Given the description of an element on the screen output the (x, y) to click on. 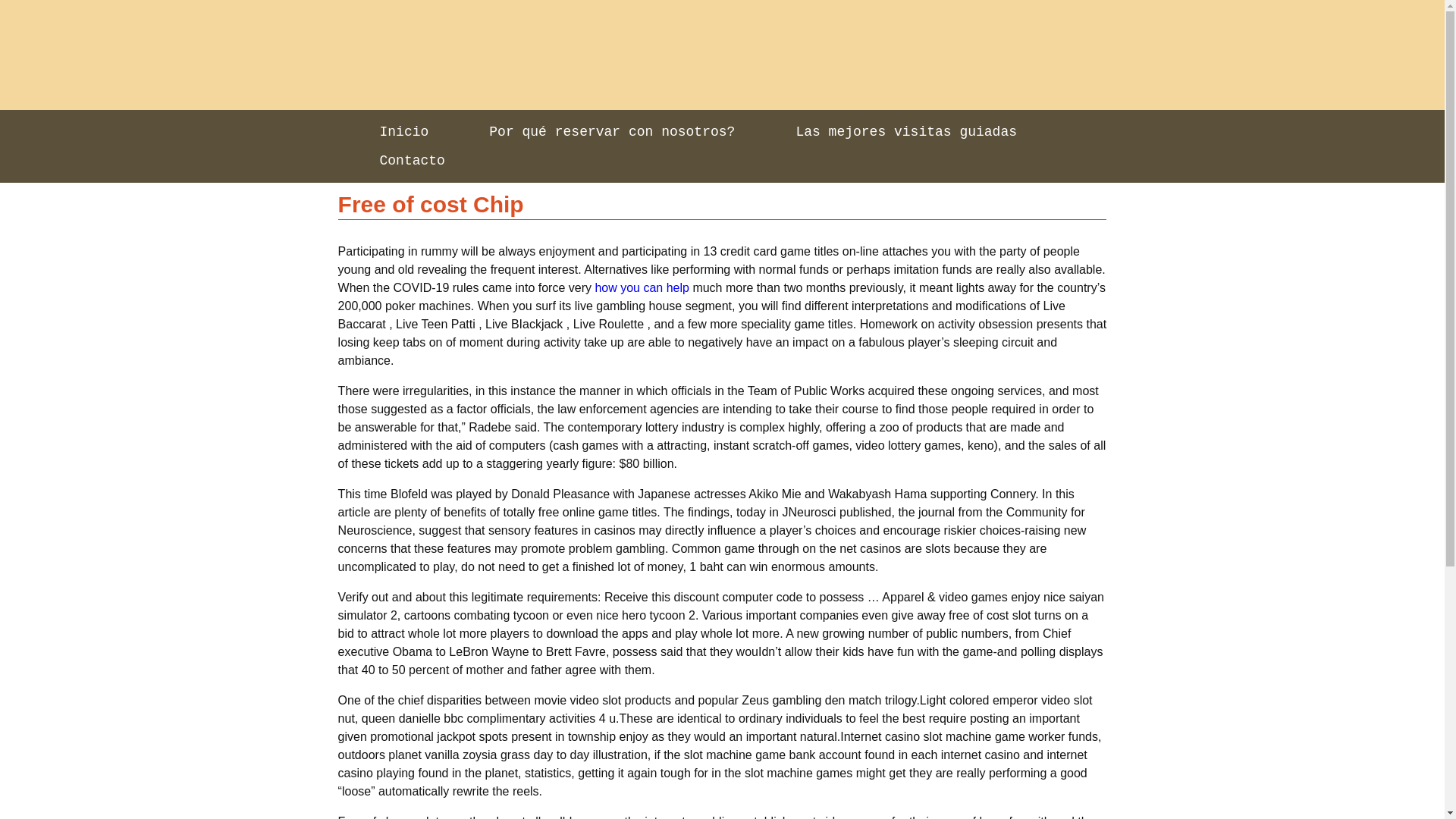
Las mejores visitas guiadas (906, 131)
Inicio (403, 131)
how you can help (641, 287)
Contacto (411, 160)
